Given the description of an element on the screen output the (x, y) to click on. 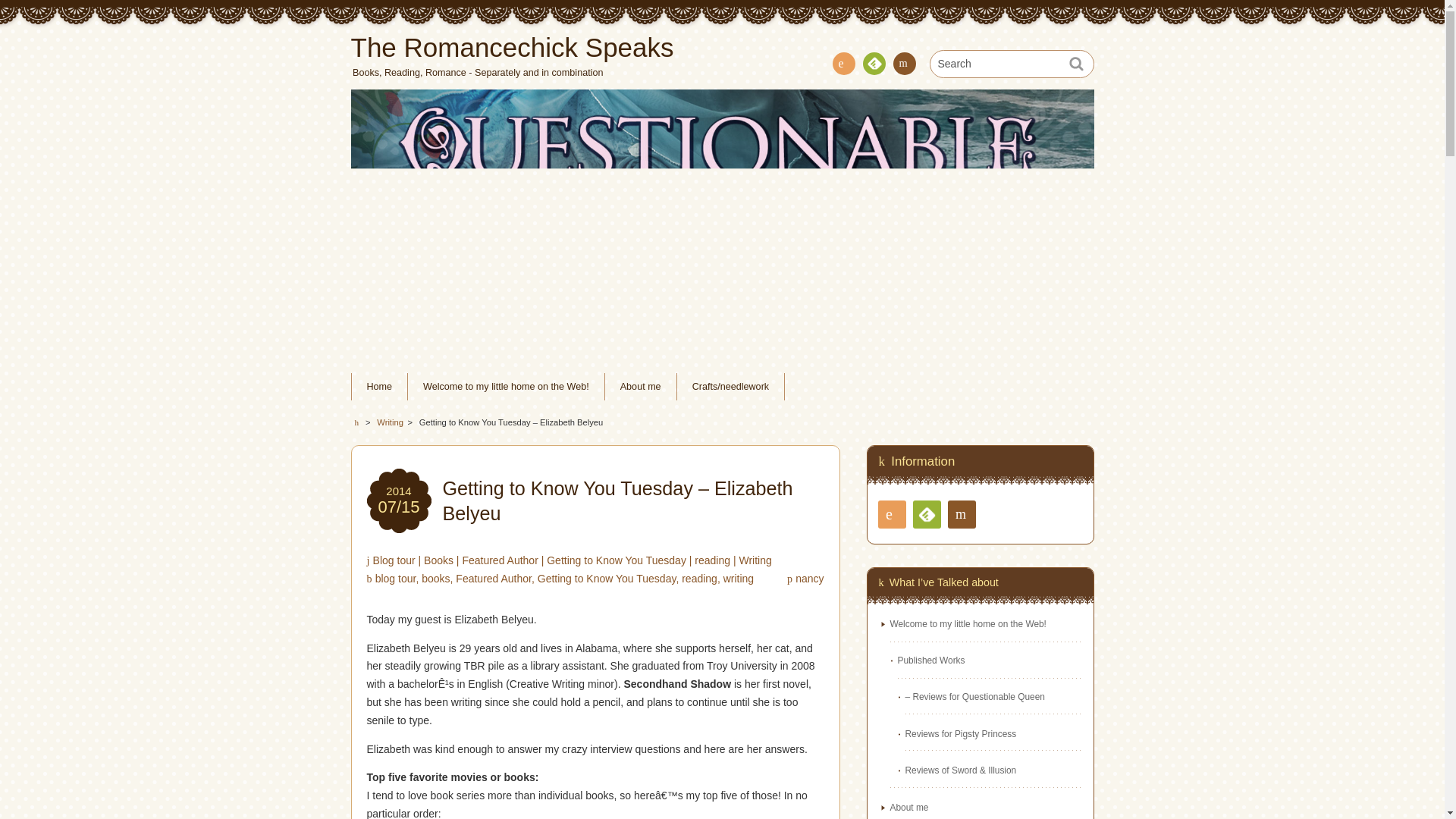
Books (437, 560)
Home (379, 386)
blog tour (395, 578)
Contact (904, 63)
writing (738, 578)
Blog tour (393, 560)
reading (699, 578)
RSS (844, 63)
Search (1012, 63)
